Given the description of an element on the screen output the (x, y) to click on. 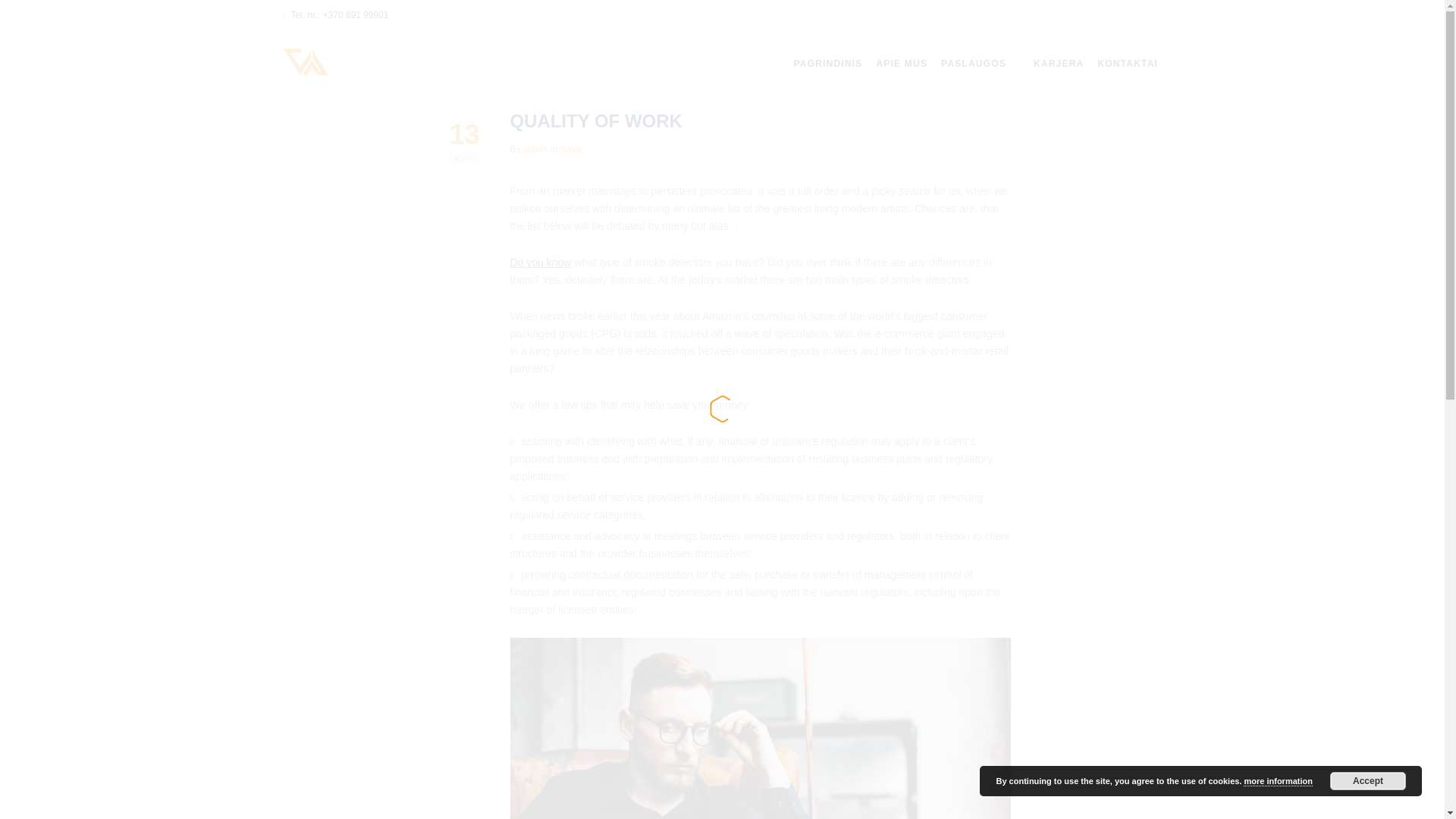
Do you know (539, 262)
KARJERA (1058, 62)
admin (535, 149)
more information (1277, 781)
Accept (1368, 781)
Sales (571, 149)
KONTAKTAI (464, 140)
PAGRINDINIS (1127, 62)
APIE MUS (827, 62)
